Given the description of an element on the screen output the (x, y) to click on. 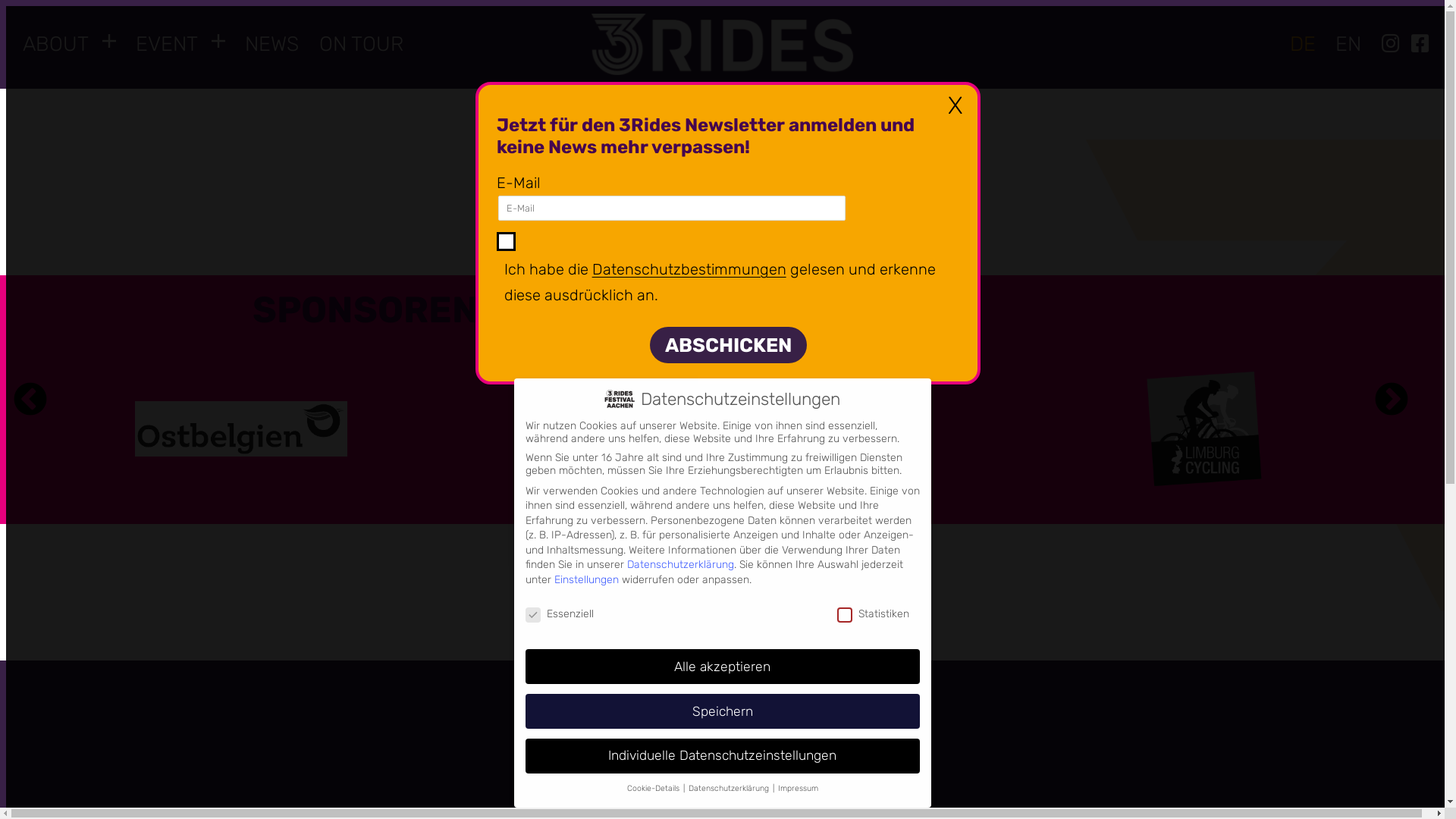
Alle akzeptieren Element type: text (721, 666)
Previous Element type: text (30, 400)
Einstellungen Element type: text (585, 579)
EVENT Element type: text (166, 43)
Cookie-Details Element type: text (653, 788)
EN Element type: text (1348, 43)
Impressum Element type: text (798, 788)
Speichern Element type: text (721, 710)
Next Element type: text (1391, 400)
Individuelle Datenschutzeinstellungen Element type: text (721, 755)
ON TOUR Element type: text (361, 43)
DE Element type: text (1301, 43)
NEWS Element type: text (271, 43)
ABOUT Element type: text (55, 43)
